Given the description of an element on the screen output the (x, y) to click on. 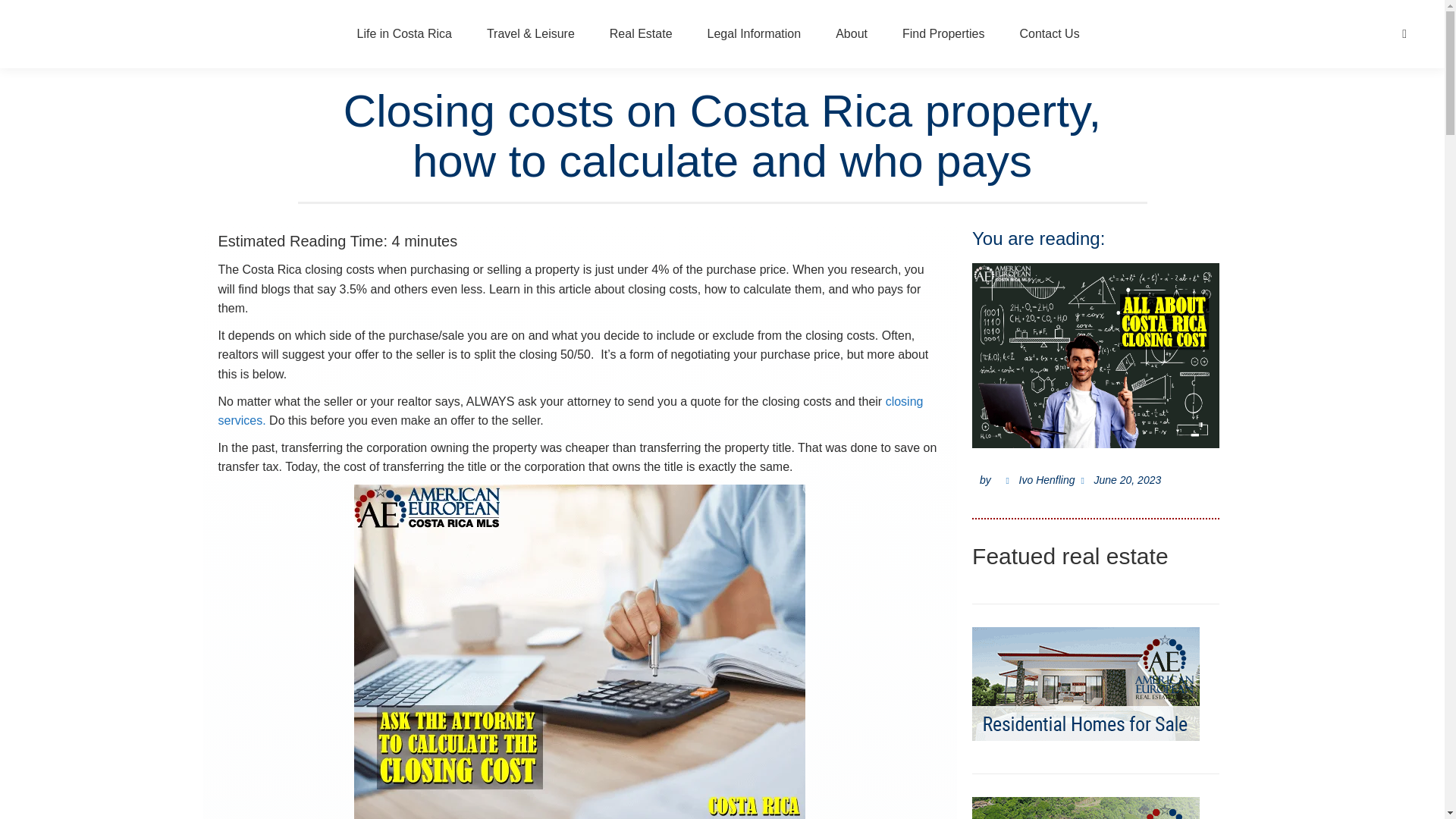
Real Estate (640, 33)
Costa Rica real estate topics (640, 33)
Find Properties (943, 33)
Legal Information (753, 33)
About (851, 33)
Life in Costa Rica (404, 33)
Costa Rica Legal (753, 33)
Contact Us (1049, 33)
